Given the description of an element on the screen output the (x, y) to click on. 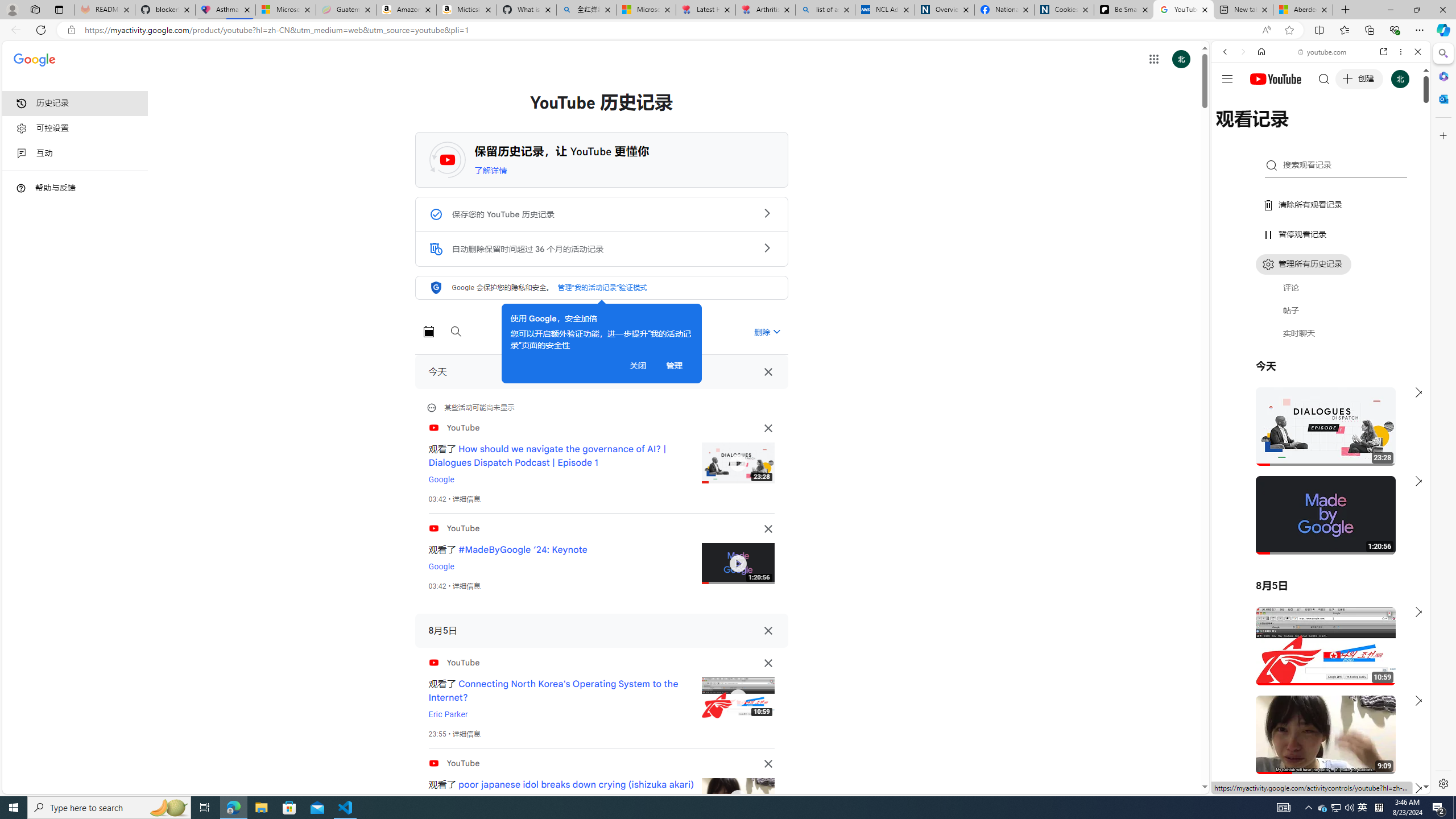
Close Customize pane (1442, 135)
Google (1320, 281)
Aberdeen, Hong Kong SAR hourly forecast | Microsoft Weather (1303, 9)
This site scope (1259, 102)
Web scope (1230, 102)
